Given the description of an element on the screen output the (x, y) to click on. 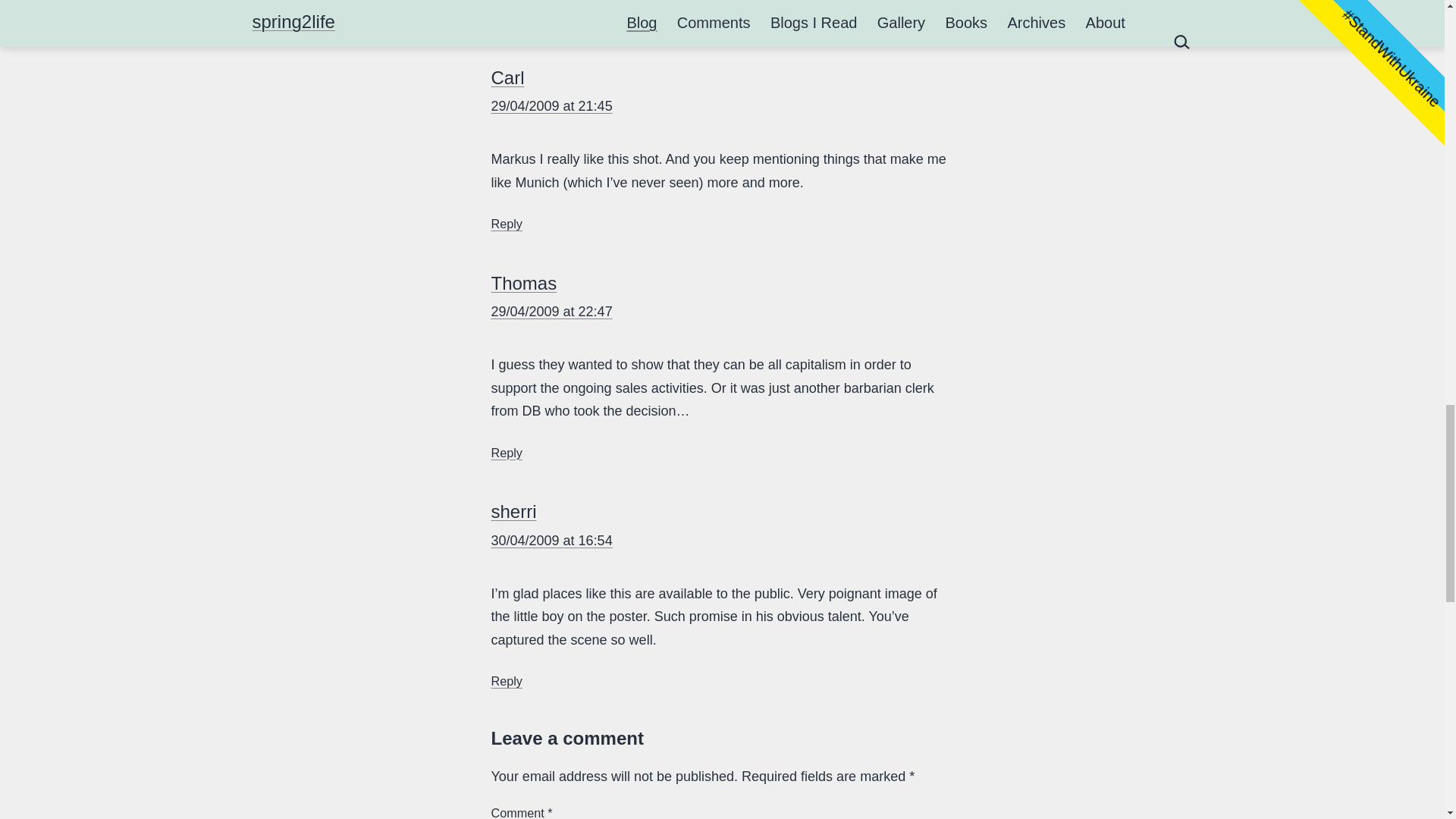
Reply (507, 452)
Thomas (524, 282)
sherri (514, 511)
Reply (507, 680)
Carl (508, 77)
Reply (507, 223)
